Given the description of an element on the screen output the (x, y) to click on. 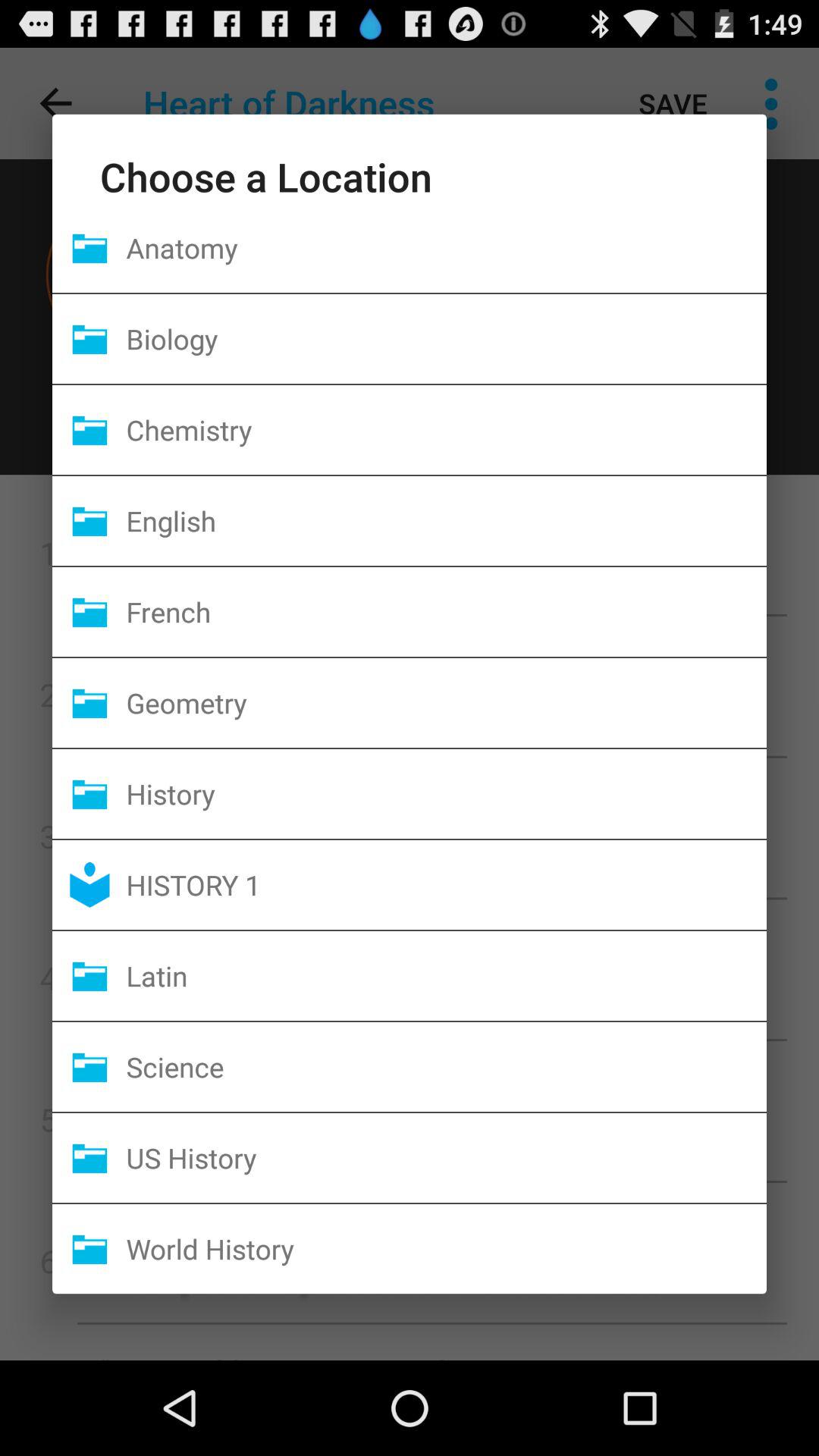
turn on the chemistry item (446, 429)
